Given the description of an element on the screen output the (x, y) to click on. 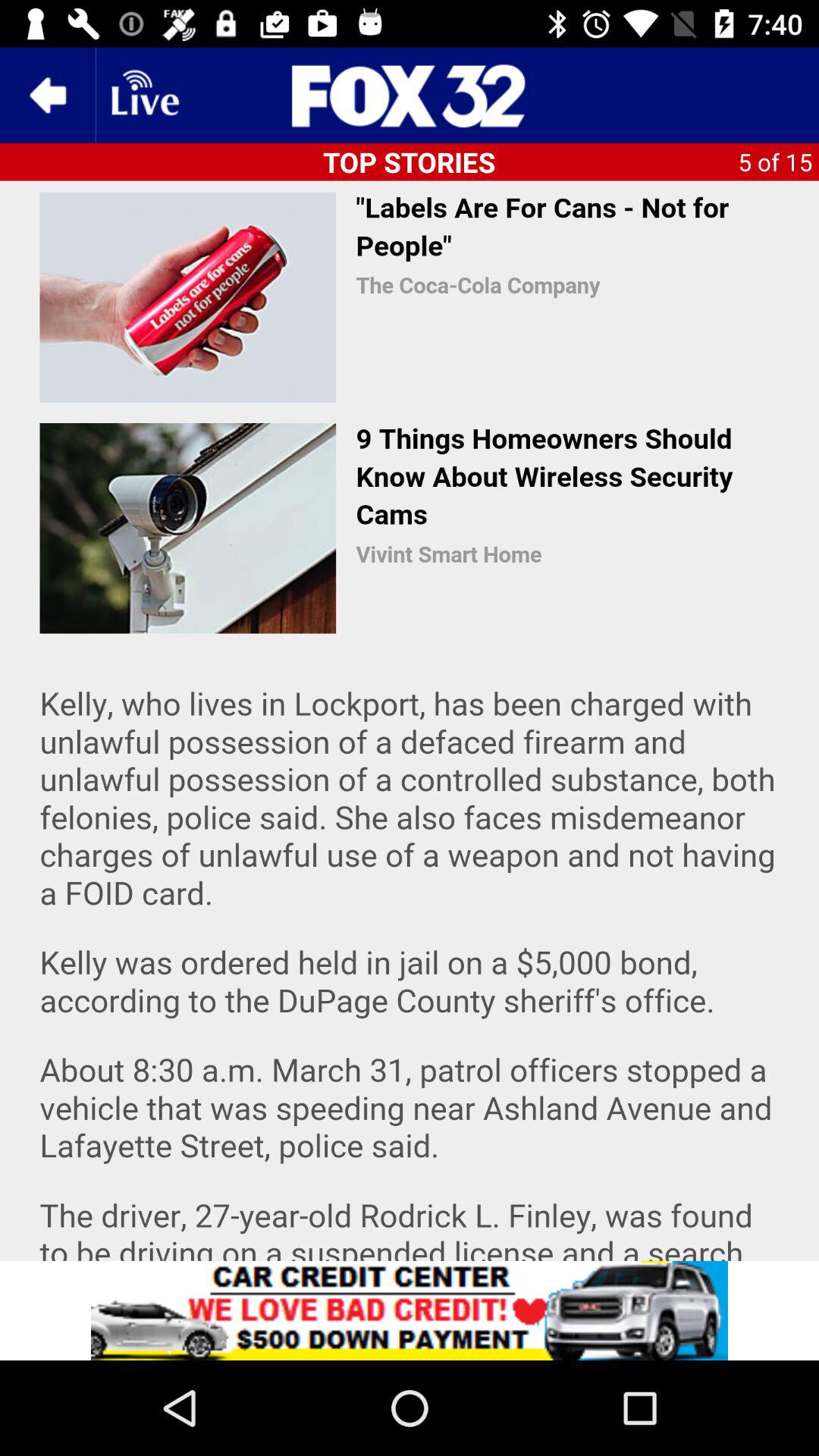
share the article (409, 720)
